Given the description of an element on the screen output the (x, y) to click on. 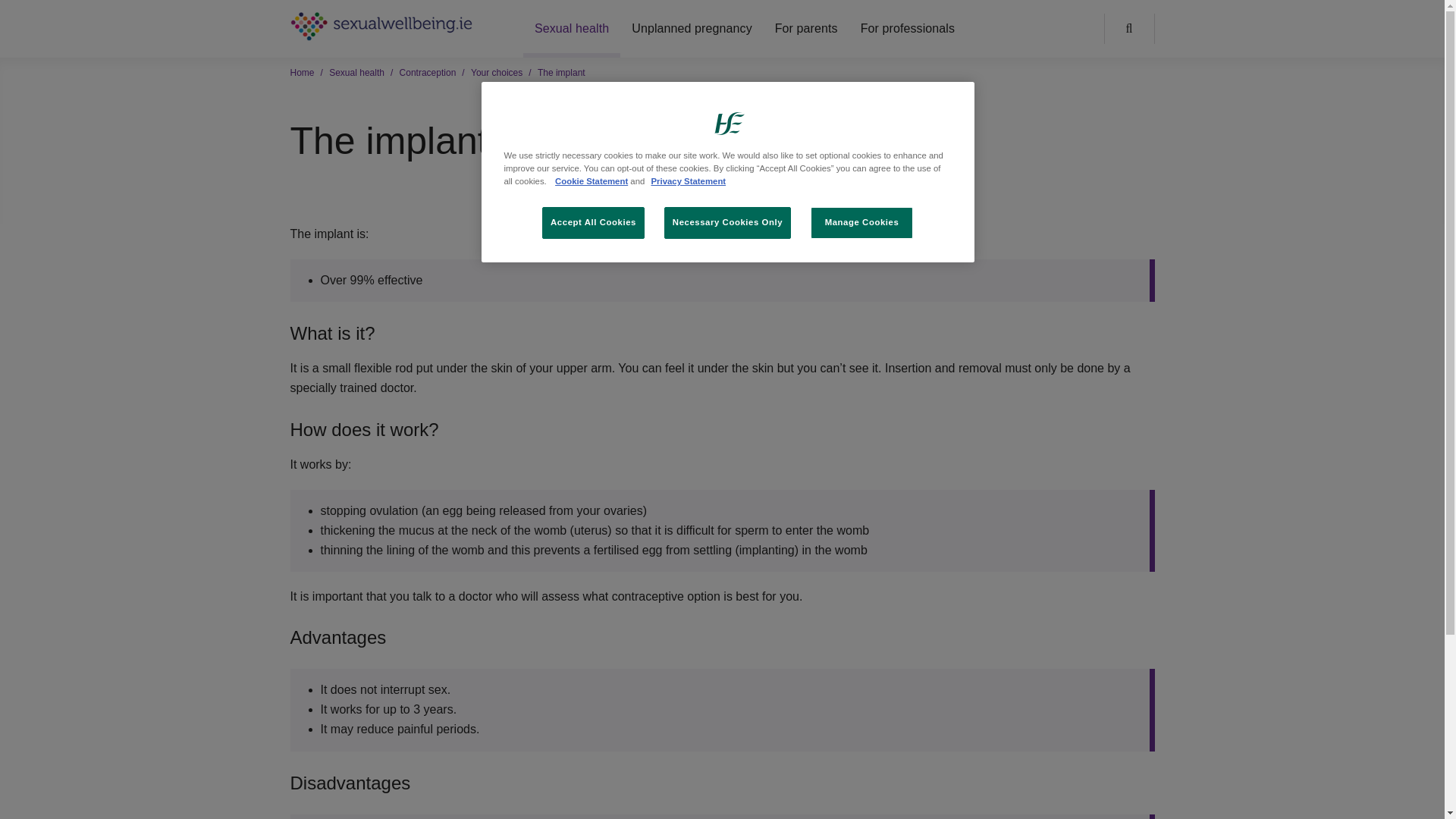
Sexual health (571, 32)
